Given the description of an element on the screen output the (x, y) to click on. 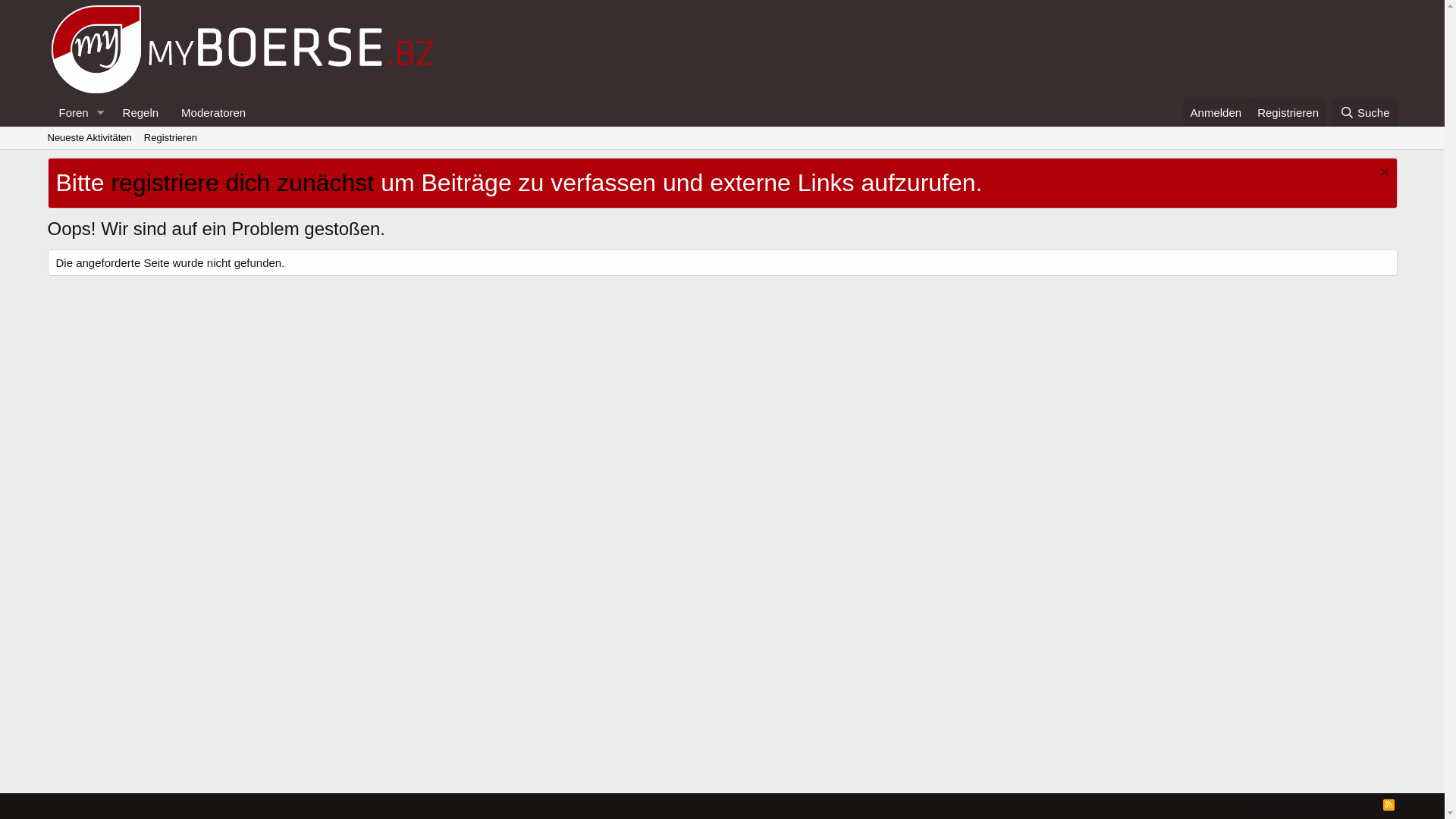
Registrieren Element type: text (170, 137)
Suche Element type: text (1363, 112)
Anmelden Element type: text (1216, 112)
Foren Element type: text (68, 112)
Hilfe und Impressum Element type: text (1294, 804)
RSS Element type: text (1388, 804)
Moderatoren Element type: text (213, 112)
Start Element type: text (1361, 804)
Regeln Element type: text (140, 112)
Registrieren Element type: text (1287, 112)
